Given the description of an element on the screen output the (x, y) to click on. 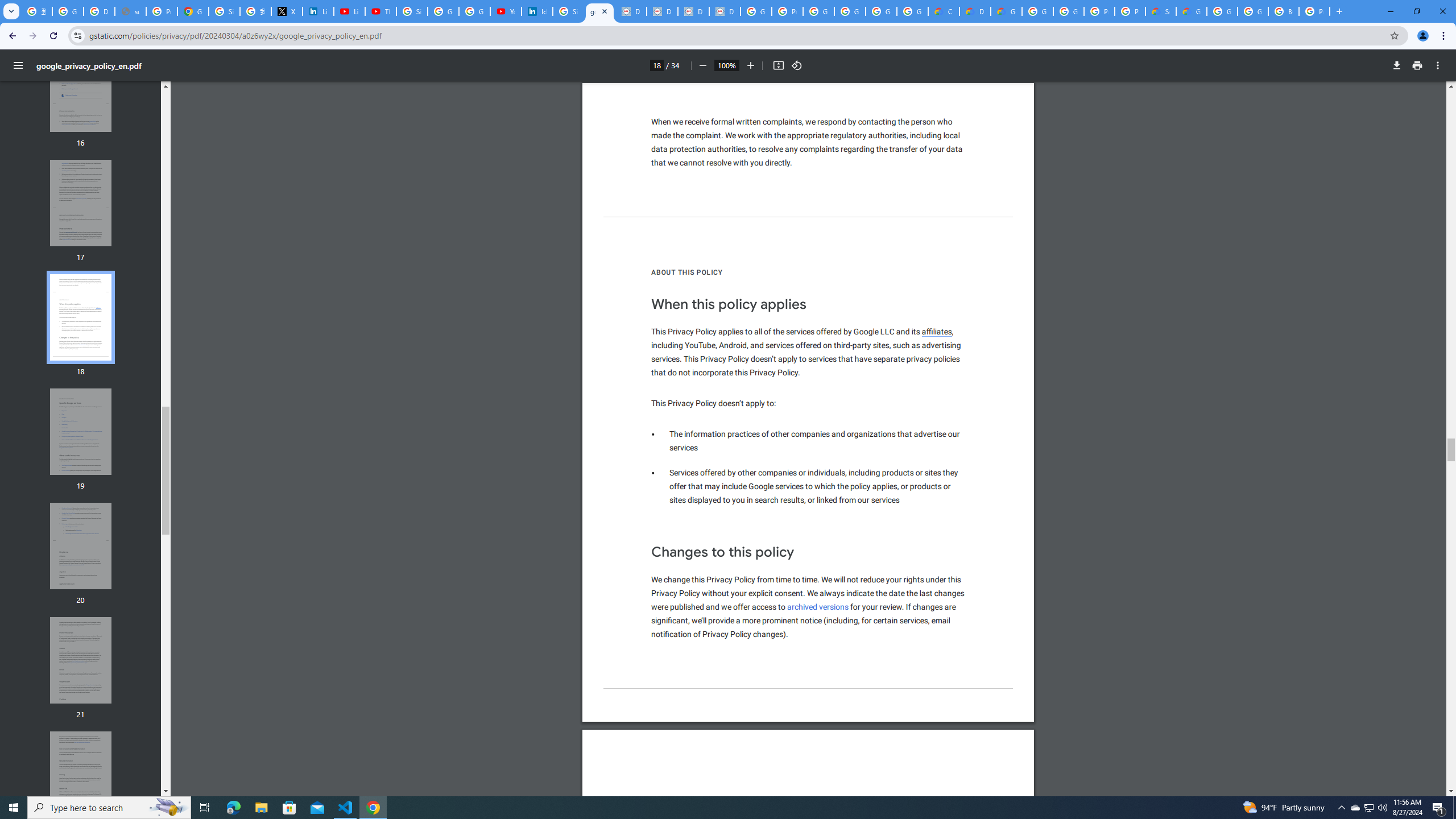
Thumbnail for page 19 (80, 431)
google_privacy_policy_en.pdf (599, 11)
Page number (656, 64)
Google Cloud Platform (1037, 11)
Thumbnail for page 16 (80, 88)
LinkedIn Privacy Policy (318, 11)
More actions (1437, 65)
Print (1416, 65)
Thumbnail for page 18 (80, 317)
